Given the description of an element on the screen output the (x, y) to click on. 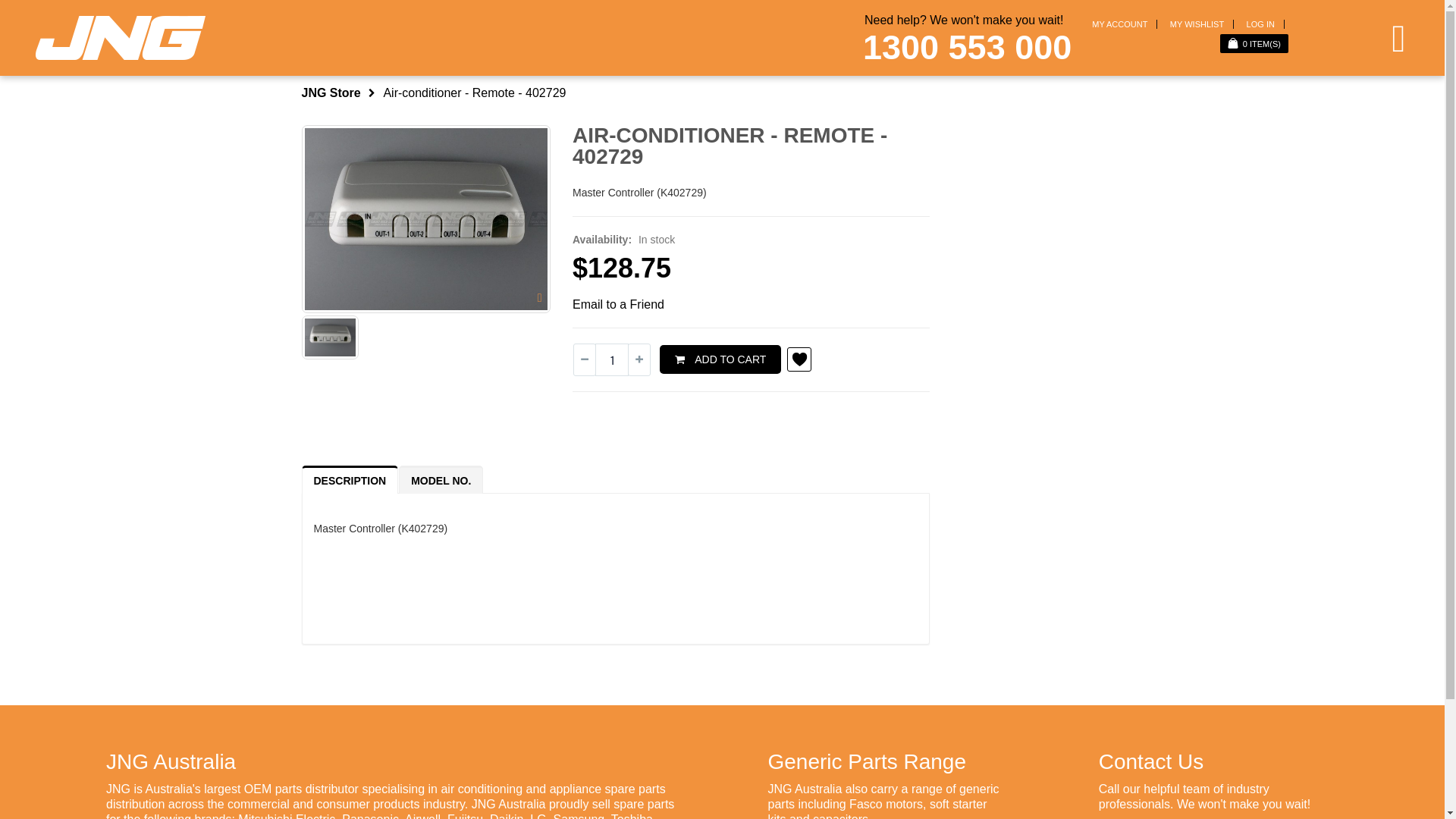
ADD TO CART Element type: text (720, 359)
0ITEM(S) Element type: text (1254, 43)
DESCRIPTION Element type: text (349, 480)
MY ACCOUNT Element type: text (1119, 23)
Qty Element type: hover (611, 359)
Email to a Friend Element type: text (618, 304)
MY WISHLIST Element type: text (1196, 23)
MODEL NO. Element type: text (440, 480)
1300 553 000 Element type: text (966, 47)
JNG Store Element type: text (330, 92)
LOG IN Element type: text (1260, 23)
